Given the description of an element on the screen output the (x, y) to click on. 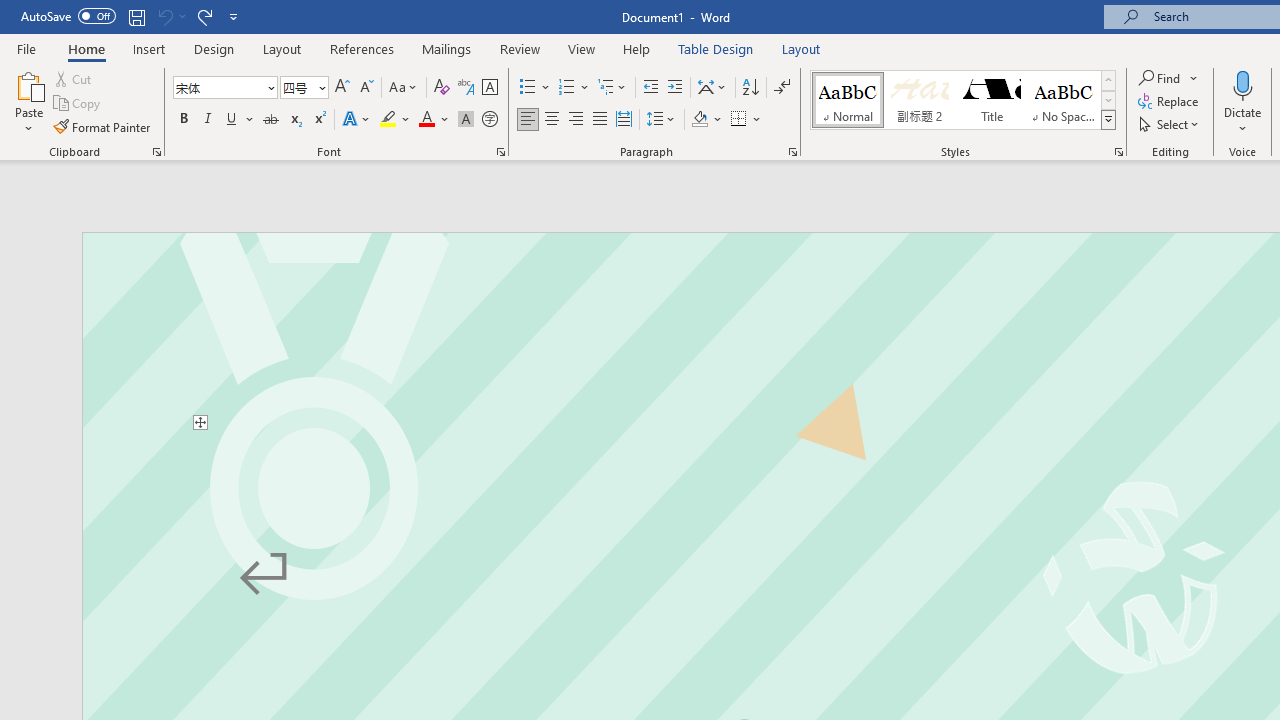
Font Color Red (426, 119)
Shrink Font (365, 87)
Customize Quick Access Toolbar (234, 15)
Underline (232, 119)
Can't Undo (170, 15)
Line and Paragraph Spacing (661, 119)
Replace... (1169, 101)
Font Color (434, 119)
Asian Layout (712, 87)
Font Size (304, 87)
Font Size (297, 87)
Class: NetUIImage (1108, 119)
Decrease Indent (650, 87)
